Given the description of an element on the screen output the (x, y) to click on. 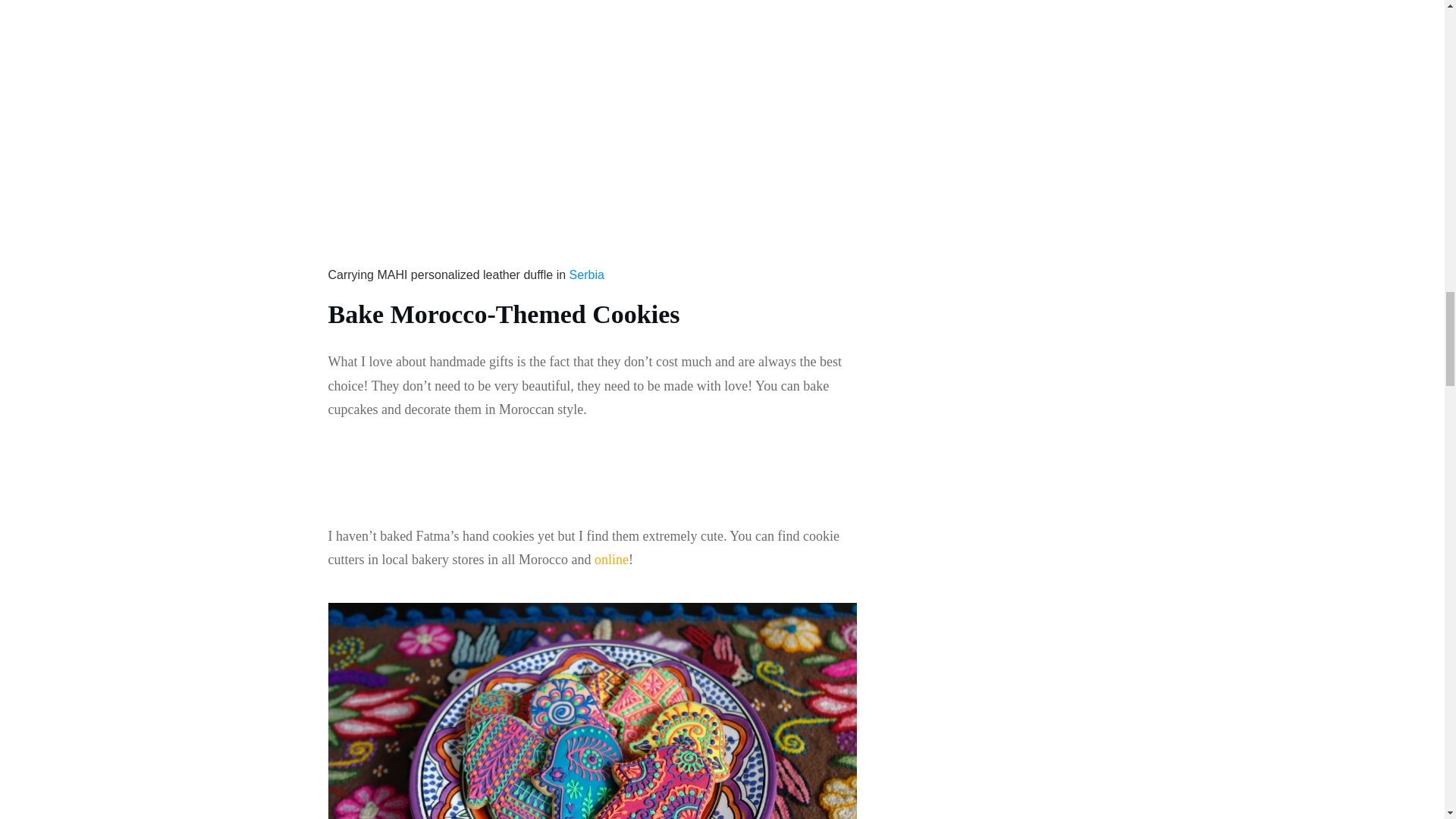
Serbia (586, 274)
online (611, 559)
